Given the description of an element on the screen output the (x, y) to click on. 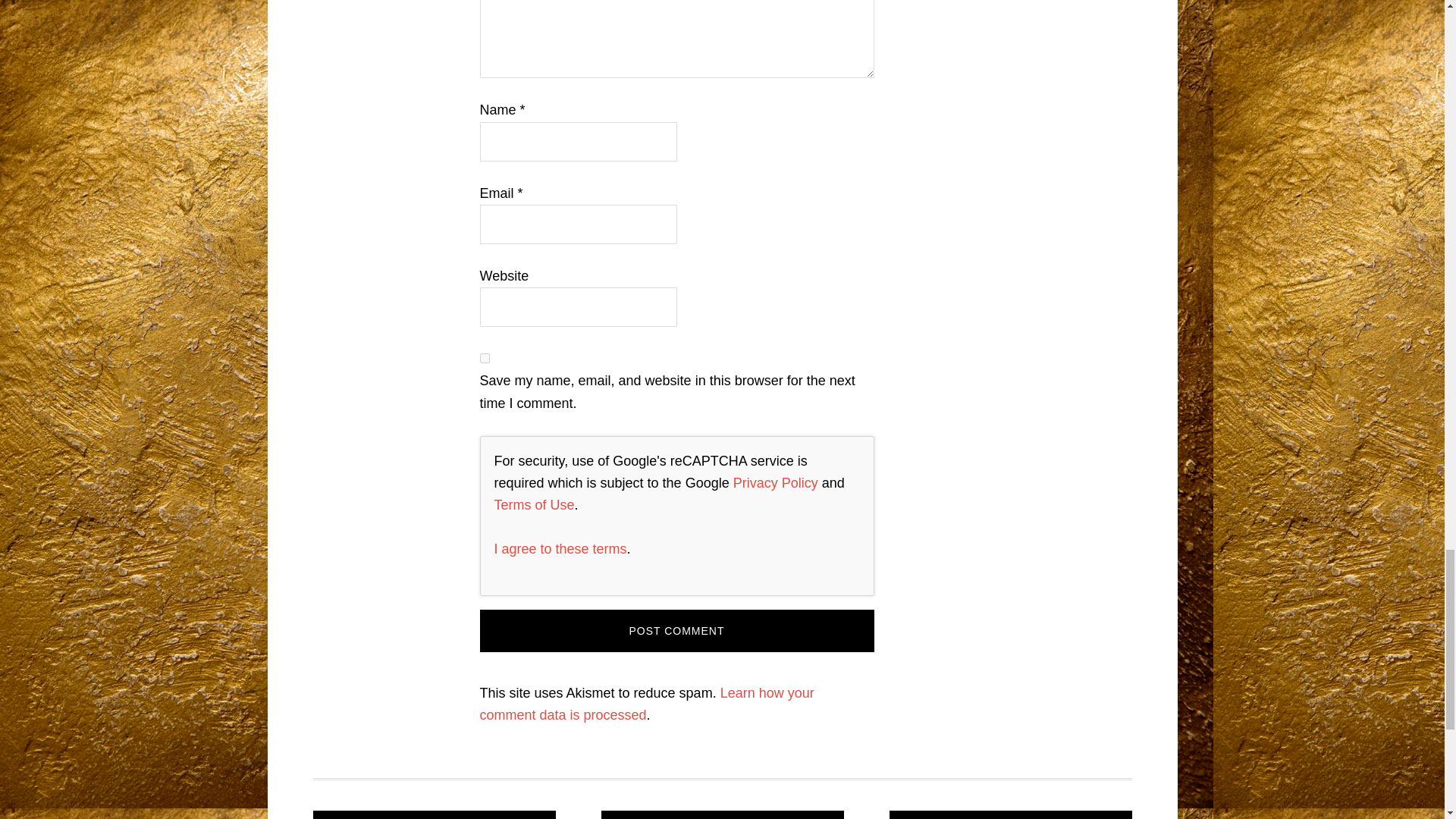
Privacy Policy (775, 482)
Terms of Use (535, 504)
Post Comment (676, 630)
Post Comment (676, 630)
Learn how your comment data is processed (646, 703)
yes (484, 357)
I agree to these terms (561, 548)
